Given the description of an element on the screen output the (x, y) to click on. 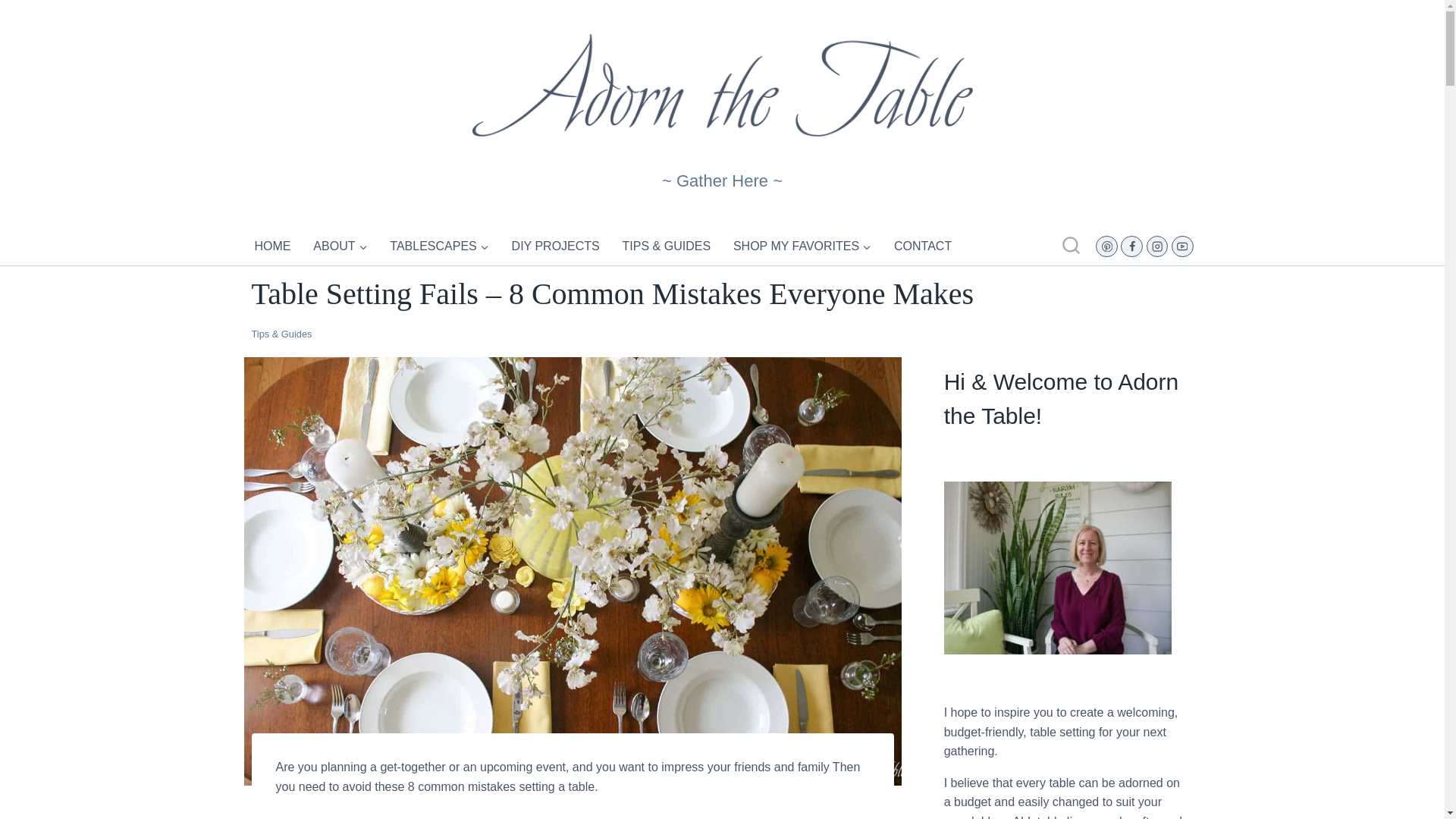
SHOP MY FAVORITES (802, 246)
HOME (272, 246)
CONTACT (923, 246)
TABLESCAPES (439, 246)
ABOUT (339, 246)
DIY PROJECTS (555, 246)
